Given the description of an element on the screen output the (x, y) to click on. 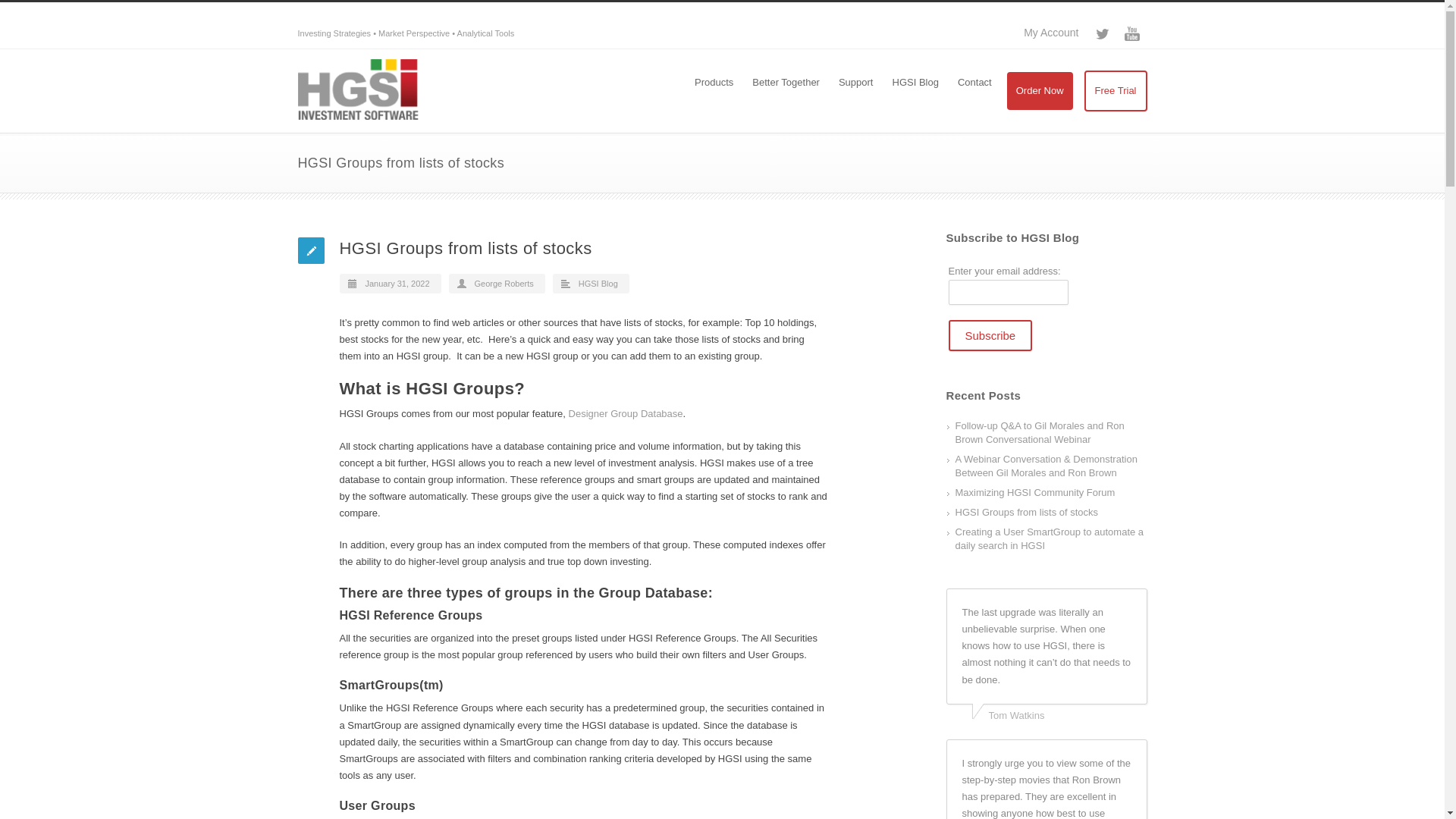
HGSI Blog (915, 83)
Subscribe (989, 335)
Designer Group Database (625, 413)
Better Together (786, 83)
My Account (1050, 32)
Order Now (1040, 90)
Contact (974, 83)
Twitter (1101, 33)
YouTube (1131, 33)
Support (855, 83)
Free Trial (1115, 90)
George Roberts (504, 283)
Products (713, 83)
HGSI Blog (597, 283)
